Given the description of an element on the screen output the (x, y) to click on. 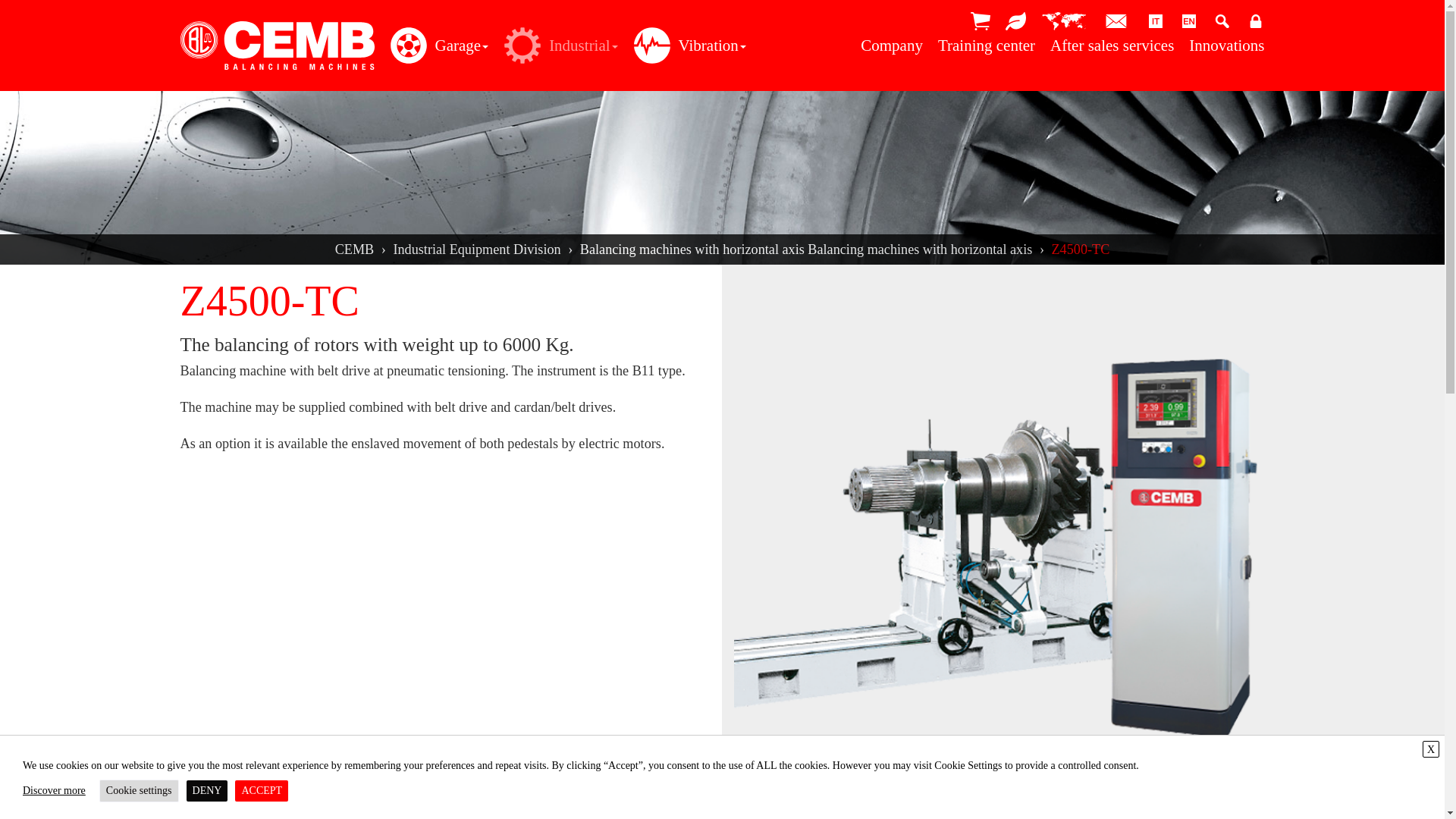
Balancing machines with horizontal axis (920, 249)
Training center (986, 45)
Garage (435, 45)
Balancing machines with horizontal axis (693, 249)
Industrial (556, 45)
After sales services (1111, 45)
Close and Accept (1430, 749)
CEMB (354, 249)
Industrial Equipment Division (476, 249)
CEMB (277, 45)
